Given the description of an element on the screen output the (x, y) to click on. 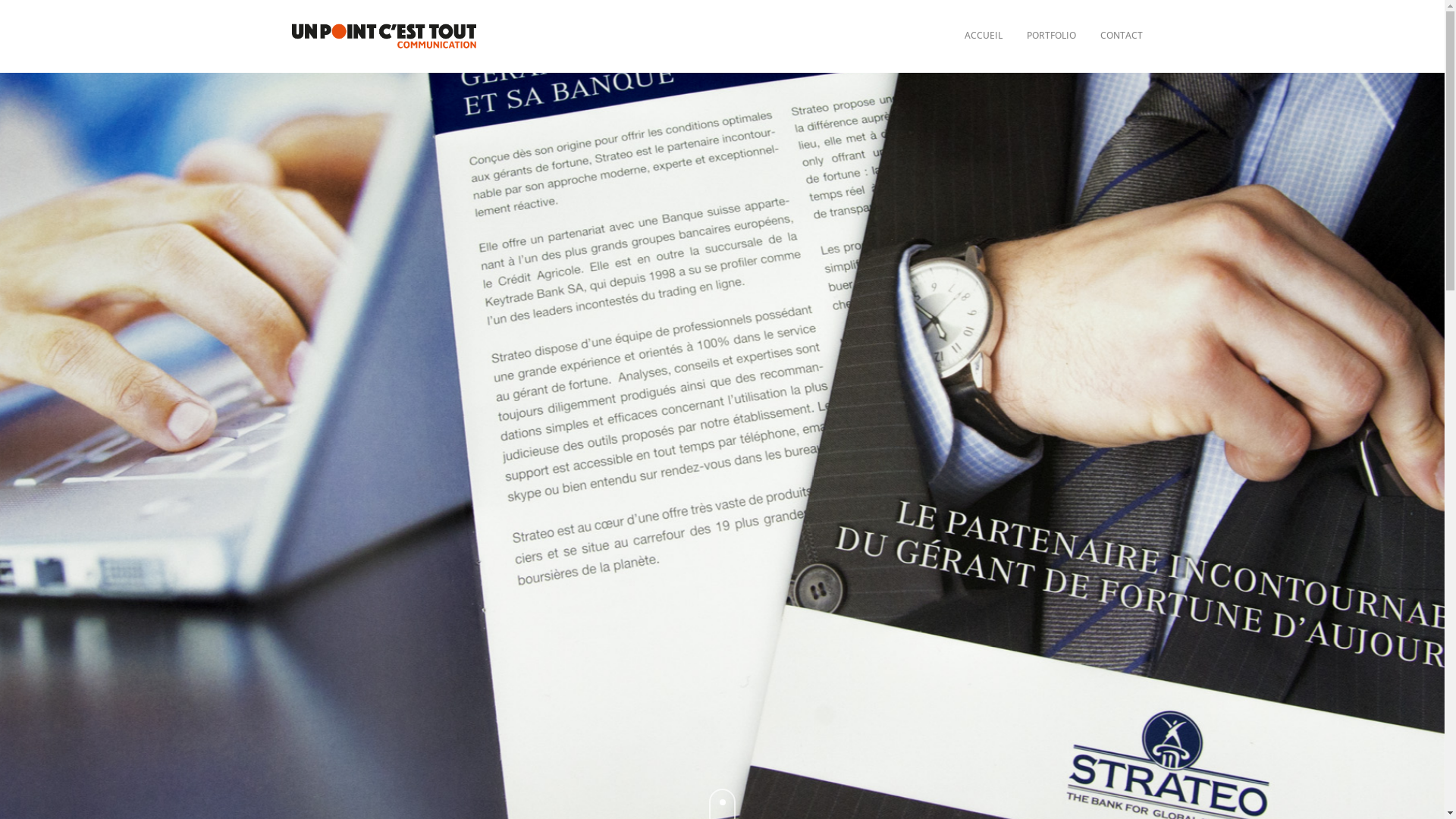
ACCUEIL Element type: text (983, 36)
PORTFOLIO Element type: text (1051, 35)
CONTACT Element type: text (1120, 36)
